Given the description of an element on the screen output the (x, y) to click on. 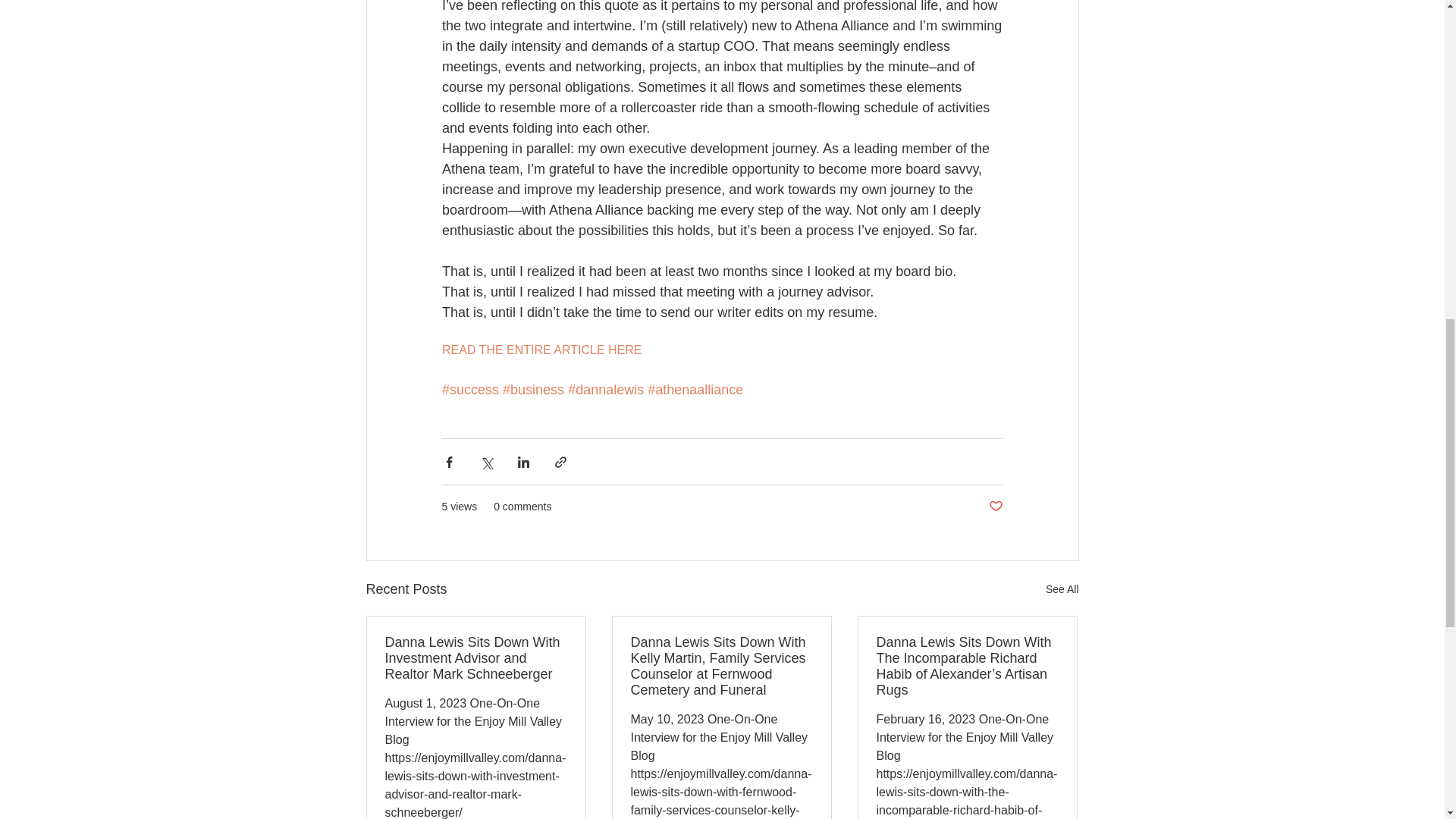
READ THE ENTIRE ARTICLE HERE (540, 349)
Post not marked as liked (995, 506)
